Given the description of an element on the screen output the (x, y) to click on. 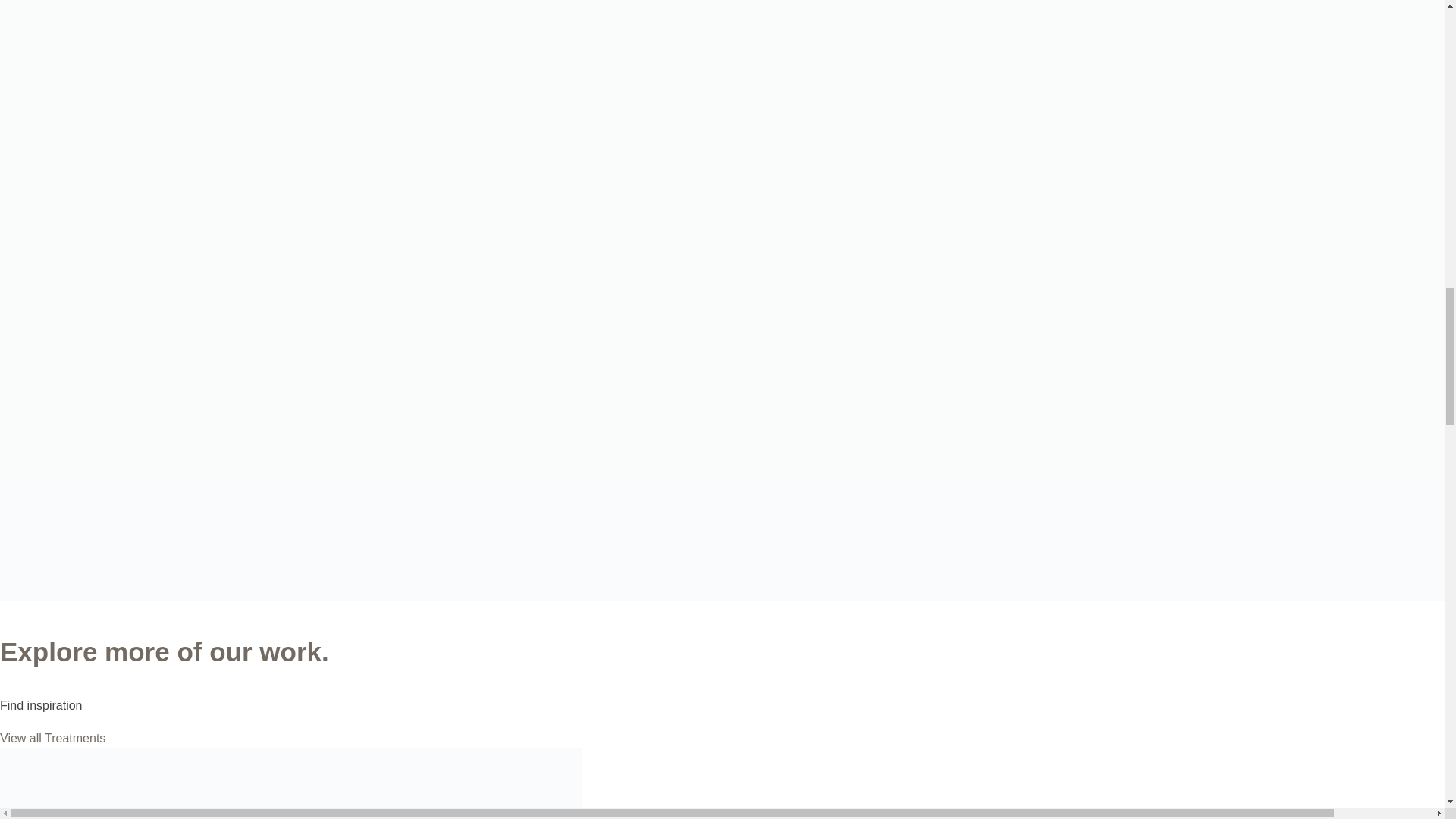
View all Treatments (52, 738)
